Given the description of an element on the screen output the (x, y) to click on. 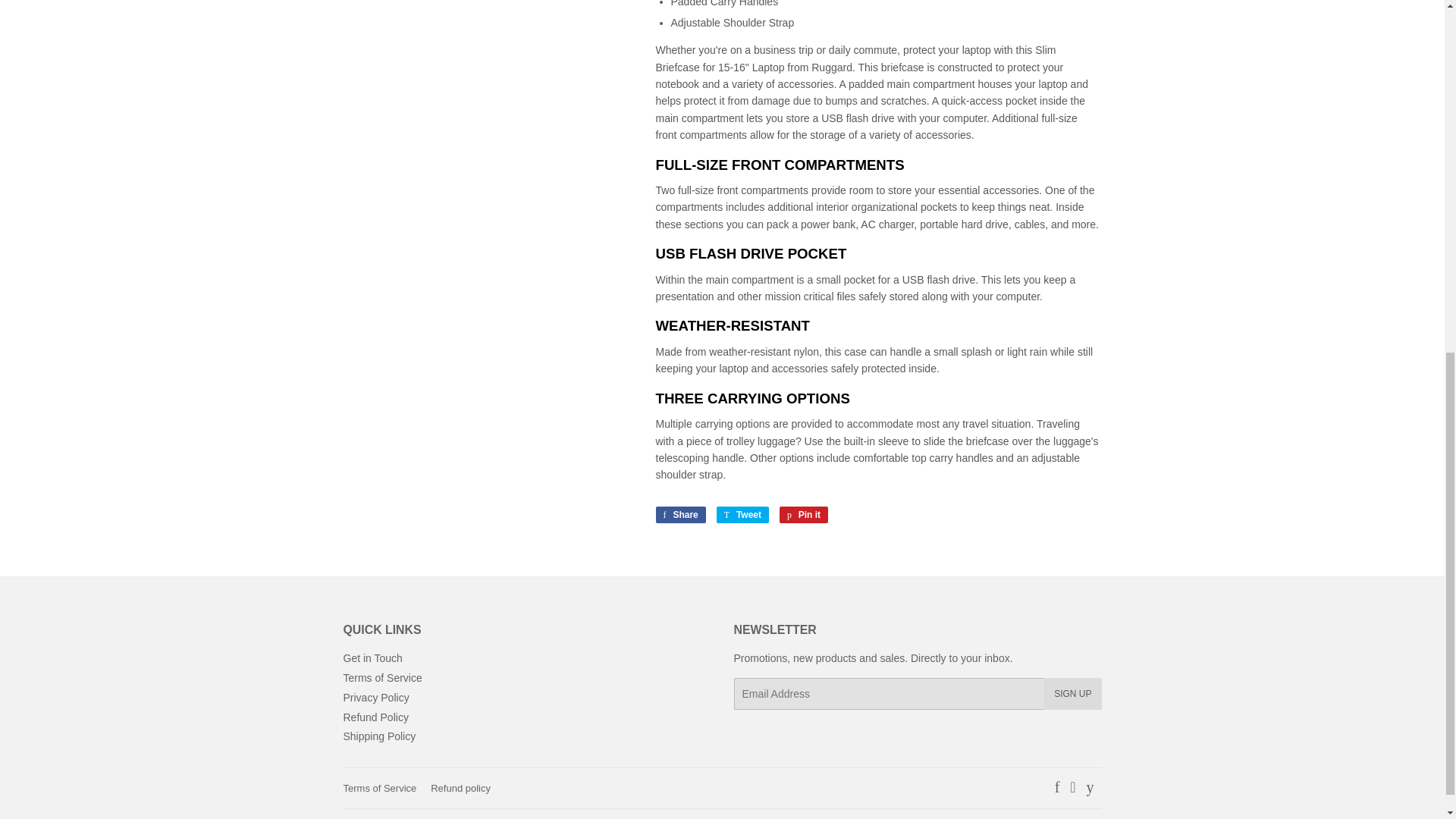
Share on Facebook (679, 514)
Tweet on Twitter (742, 514)
Pin on Pinterest (803, 514)
